Given the description of an element on the screen output the (x, y) to click on. 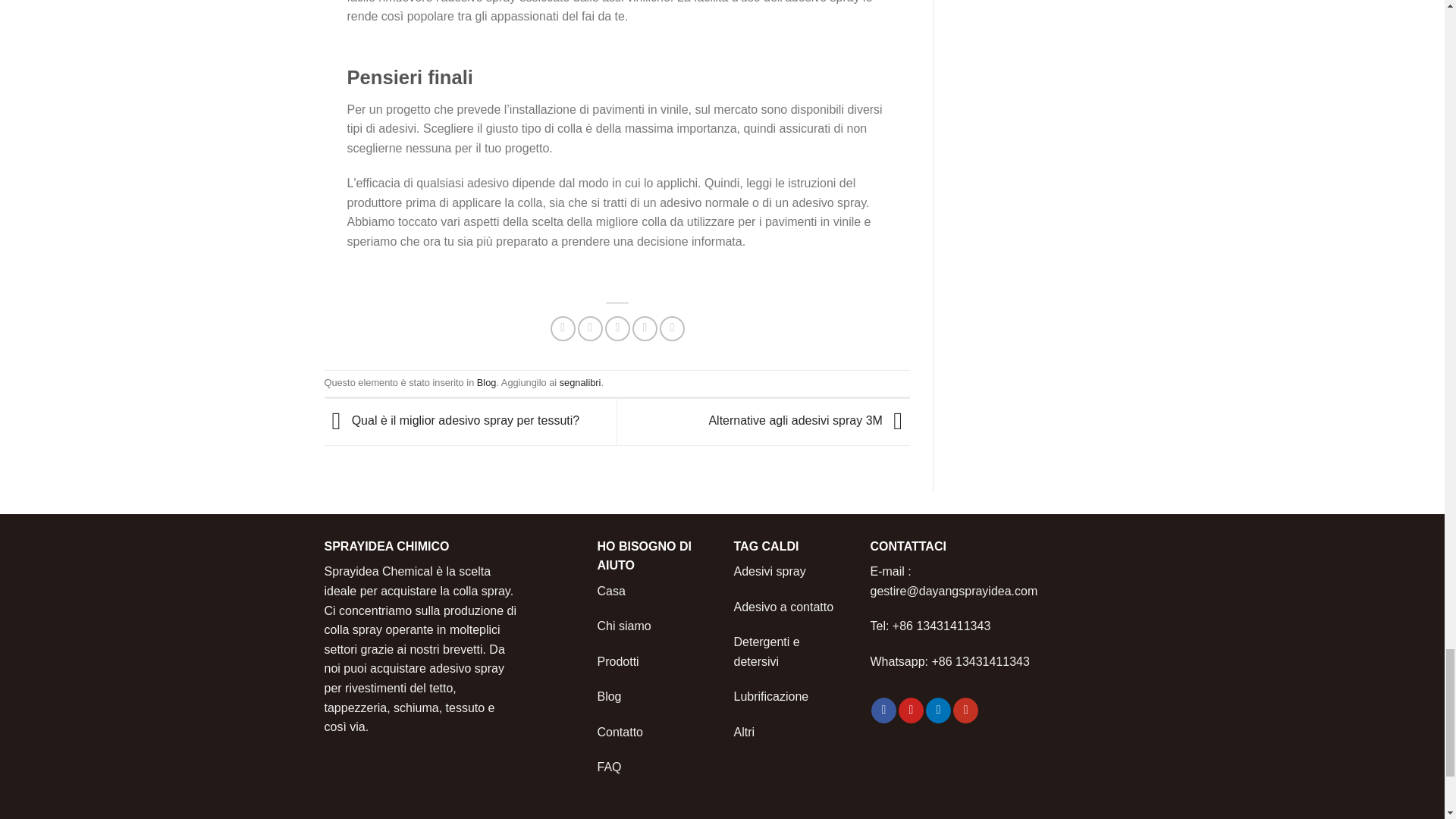
segnalibri (580, 382)
Condividi su Facebook (562, 328)
Segui su LinkedIn (938, 710)
Seguici su YouTube (965, 710)
Seguici su Pinterest (910, 710)
Pin su Pinterest (644, 328)
Blog (486, 382)
Invia per email ad un Amico (617, 328)
Condividi su Twitter (590, 328)
Condividi su LinkedIn (671, 328)
